Given the description of an element on the screen output the (x, y) to click on. 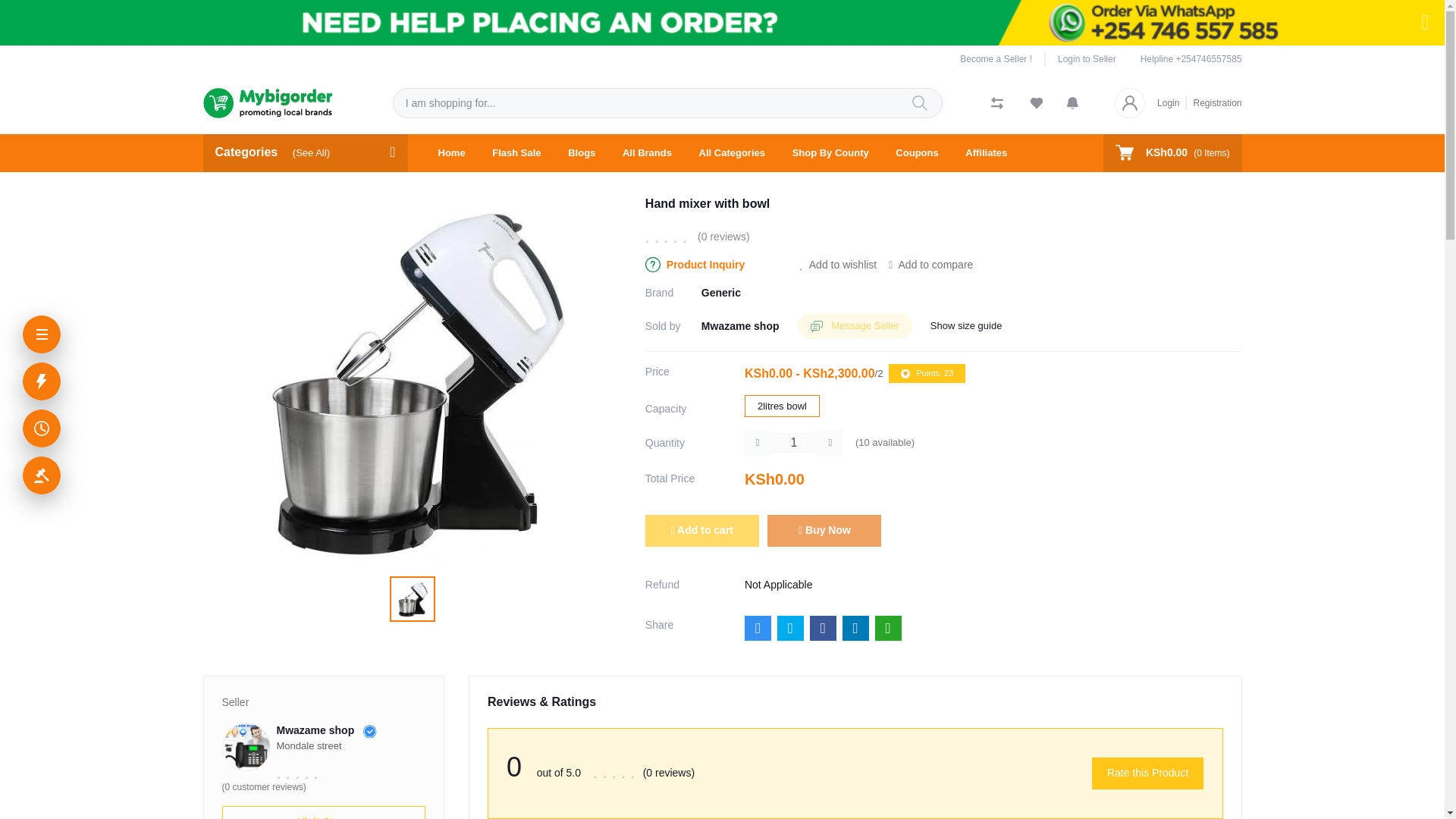
Login (1171, 101)
Home (451, 152)
Coupons (916, 152)
Become a Seller ! (1002, 59)
Registration (1213, 102)
All Brands (647, 152)
Cart (1172, 152)
Flash Sale (516, 152)
Affiliates (986, 152)
1 (793, 442)
Blogs (581, 152)
Shop By County (830, 152)
All Categories (732, 152)
Login to Seller (1080, 59)
